Given the description of an element on the screen output the (x, y) to click on. 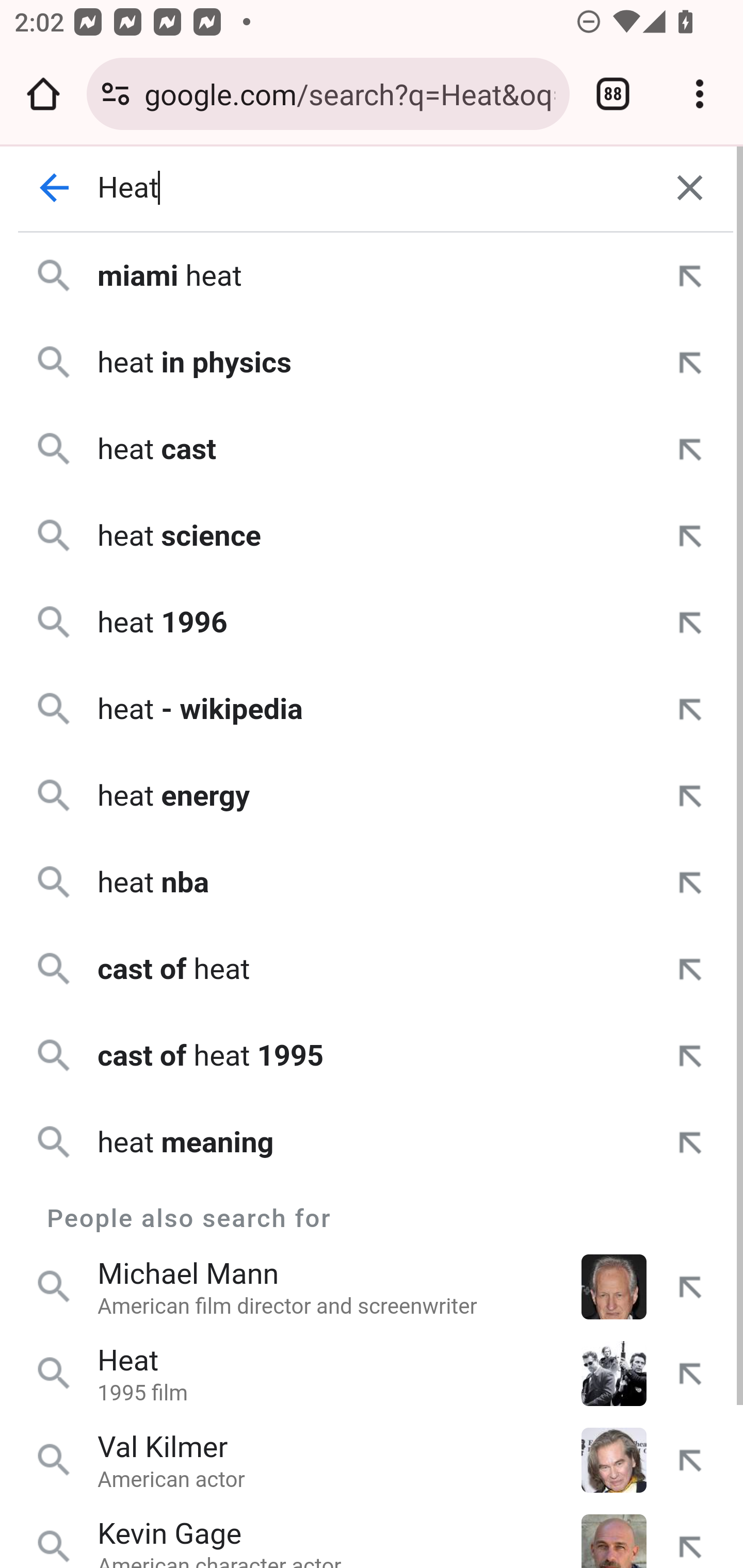
Open the home page (43, 93)
Connection is secure (115, 93)
Switch or close tabs (612, 93)
Customize and control Google Chrome (699, 93)
Back (54, 188)
Clear Search (690, 188)
Heat (372, 188)
Heat (1995) (385, 795)
Heat (1995 film) (385, 1204)
